Given the description of an element on the screen output the (x, y) to click on. 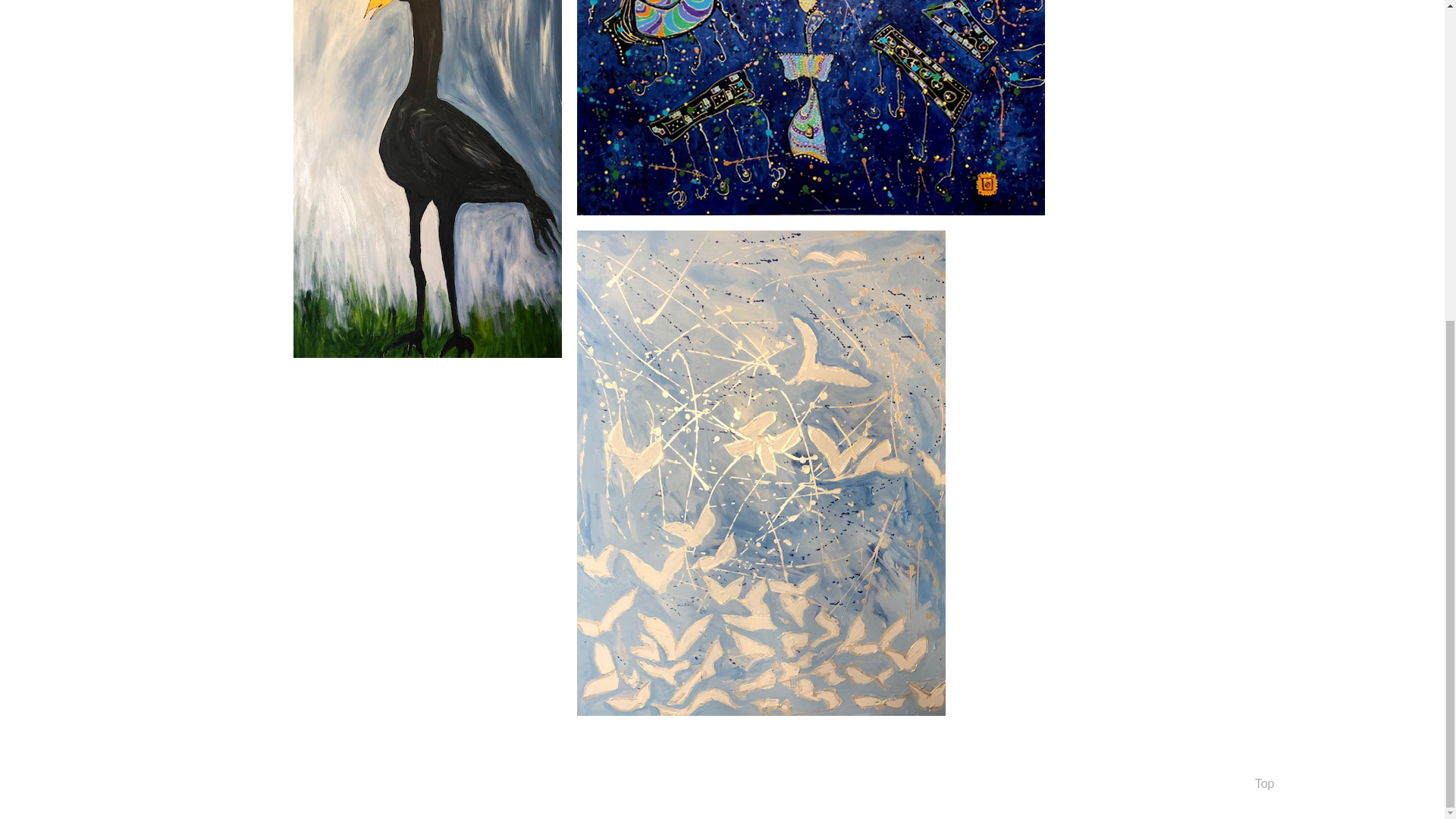
Top (1265, 783)
